Given the description of an element on the screen output the (x, y) to click on. 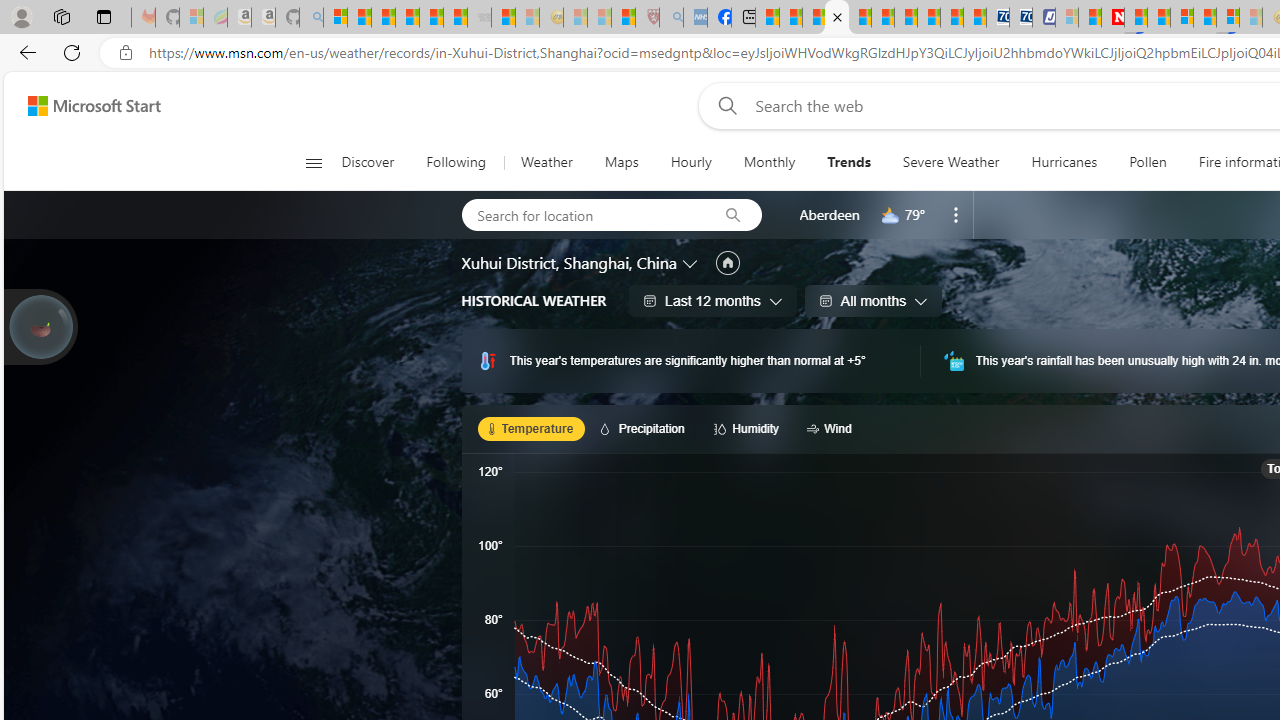
Precipitation (645, 428)
Change location (691, 262)
Severe Weather (950, 162)
Pollen (1147, 162)
Humidity (749, 428)
